Given the description of an element on the screen output the (x, y) to click on. 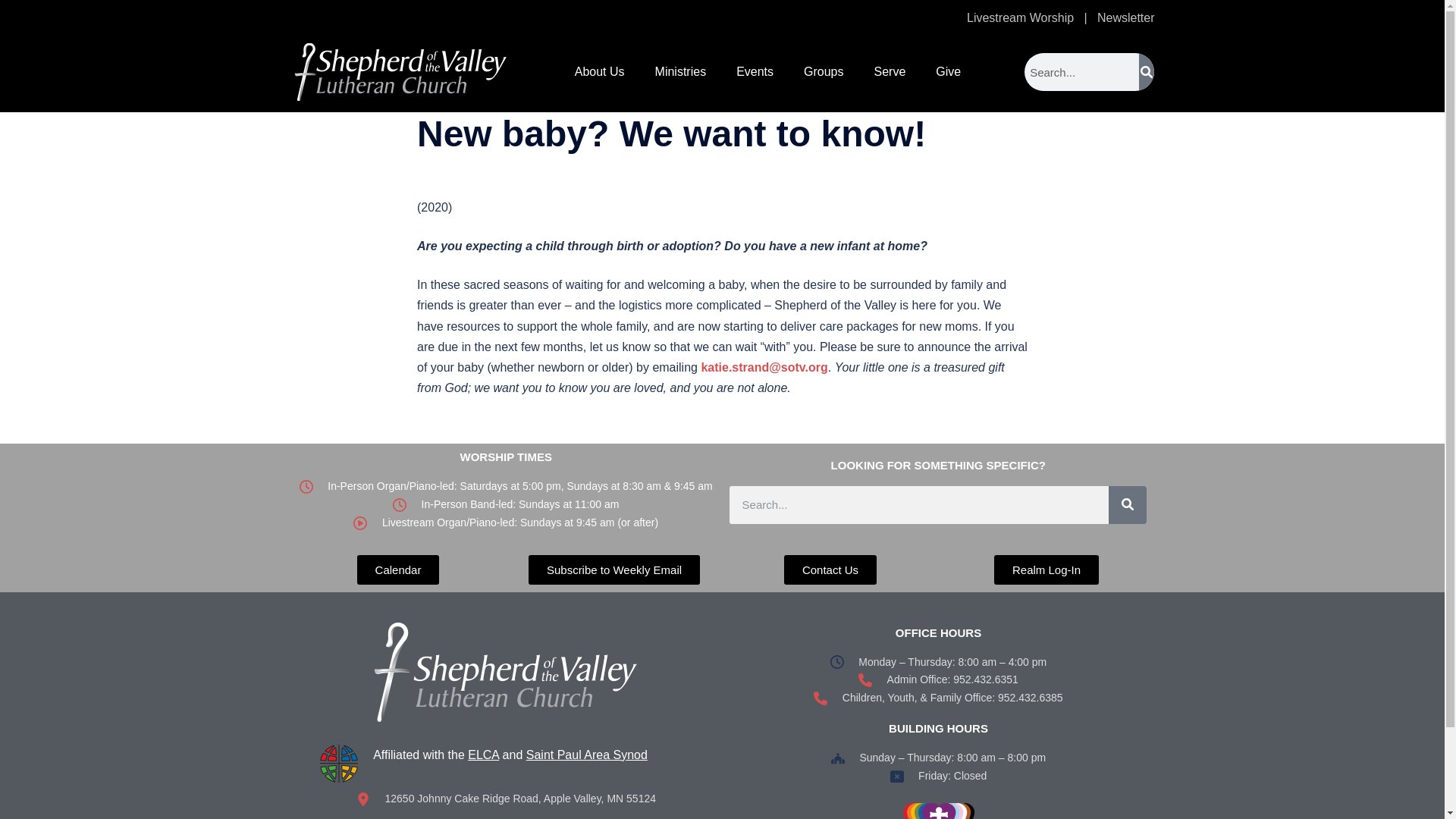
Give (947, 71)
Saint Paul Area Synod (586, 754)
RIC 2023 purple CAPS (938, 809)
Livestream Worship (1020, 17)
Groups (824, 71)
In-Person Band-led: Sundays at 11:00 am (505, 505)
Realm Log-In (1046, 569)
Newsletter (1125, 17)
Events (754, 71)
Admin Office: 952.432.6351 (938, 679)
Ministries (681, 71)
ELCA (483, 754)
Contact Us (830, 569)
About Us (599, 71)
Serve (890, 71)
